Given the description of an element on the screen output the (x, y) to click on. 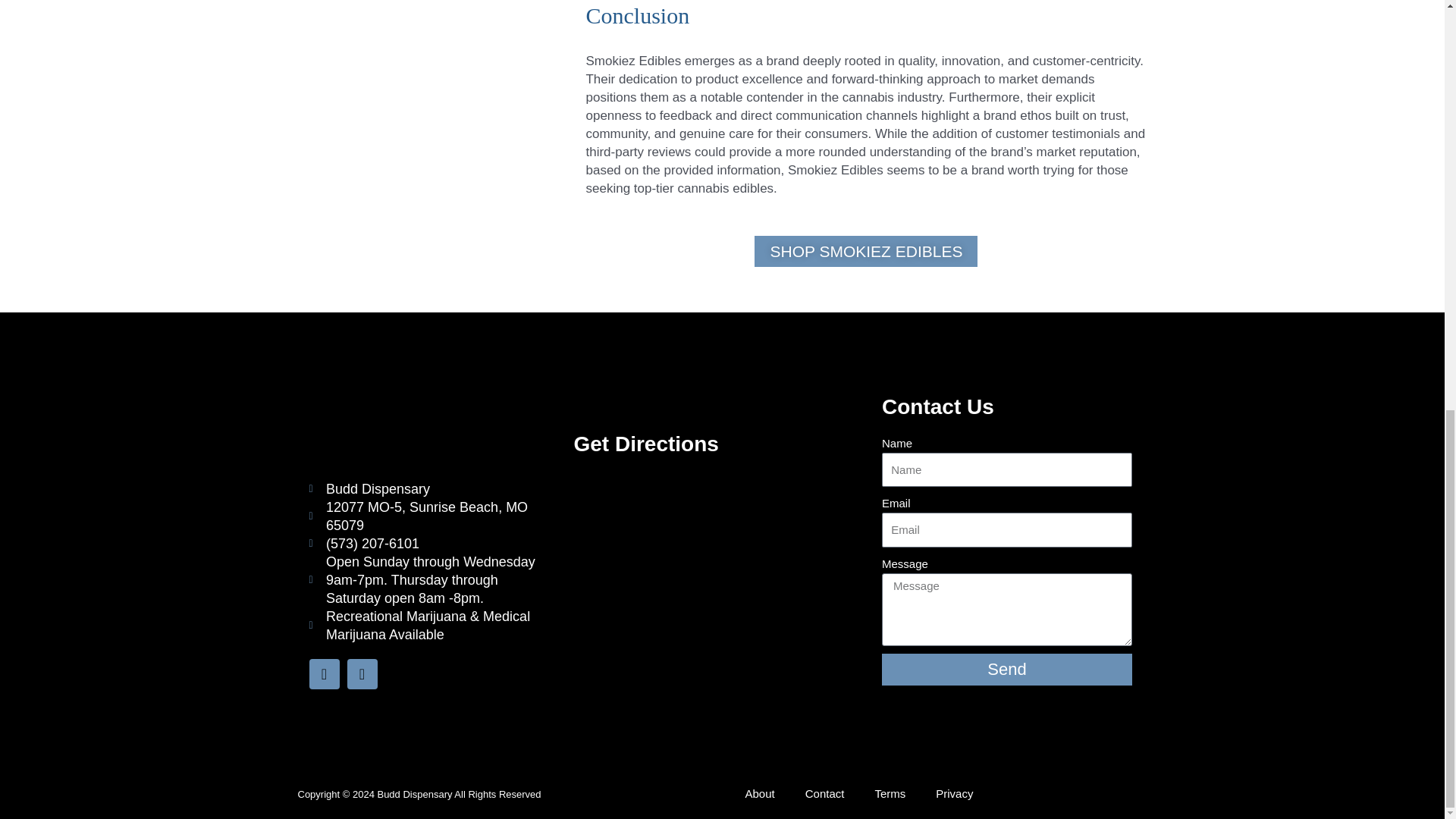
Privacy (954, 793)
Contact (825, 793)
Send (1007, 669)
Facebook (323, 674)
Terms (889, 793)
Instagram (362, 674)
About (759, 793)
Get Directions (645, 443)
SHOP SMOKIEZ EDIBLES (865, 250)
